Given the description of an element on the screen output the (x, y) to click on. 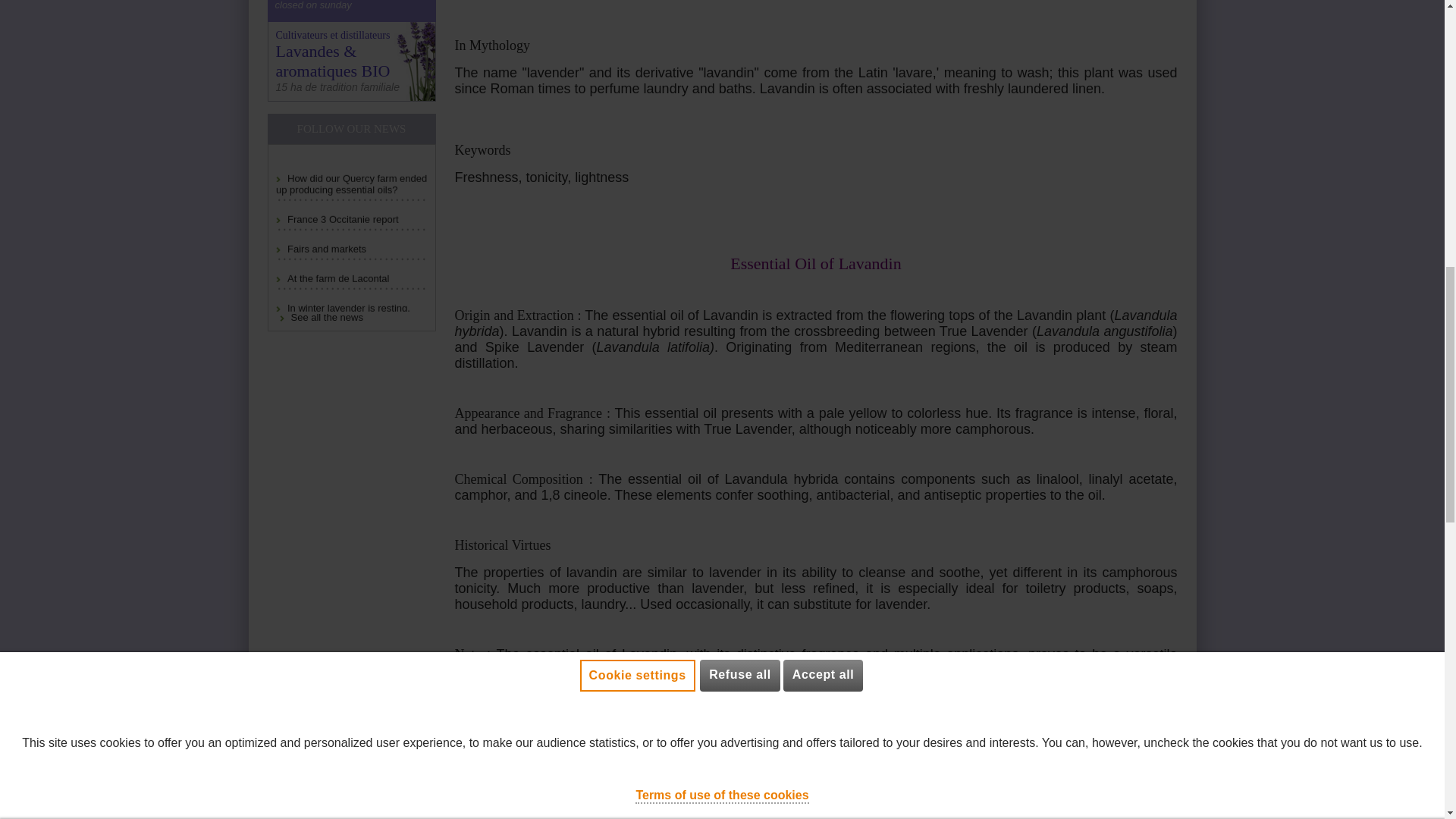
Fermer (1396, 25)
on (34, 180)
on (34, 239)
on (34, 121)
